Given the description of an element on the screen output the (x, y) to click on. 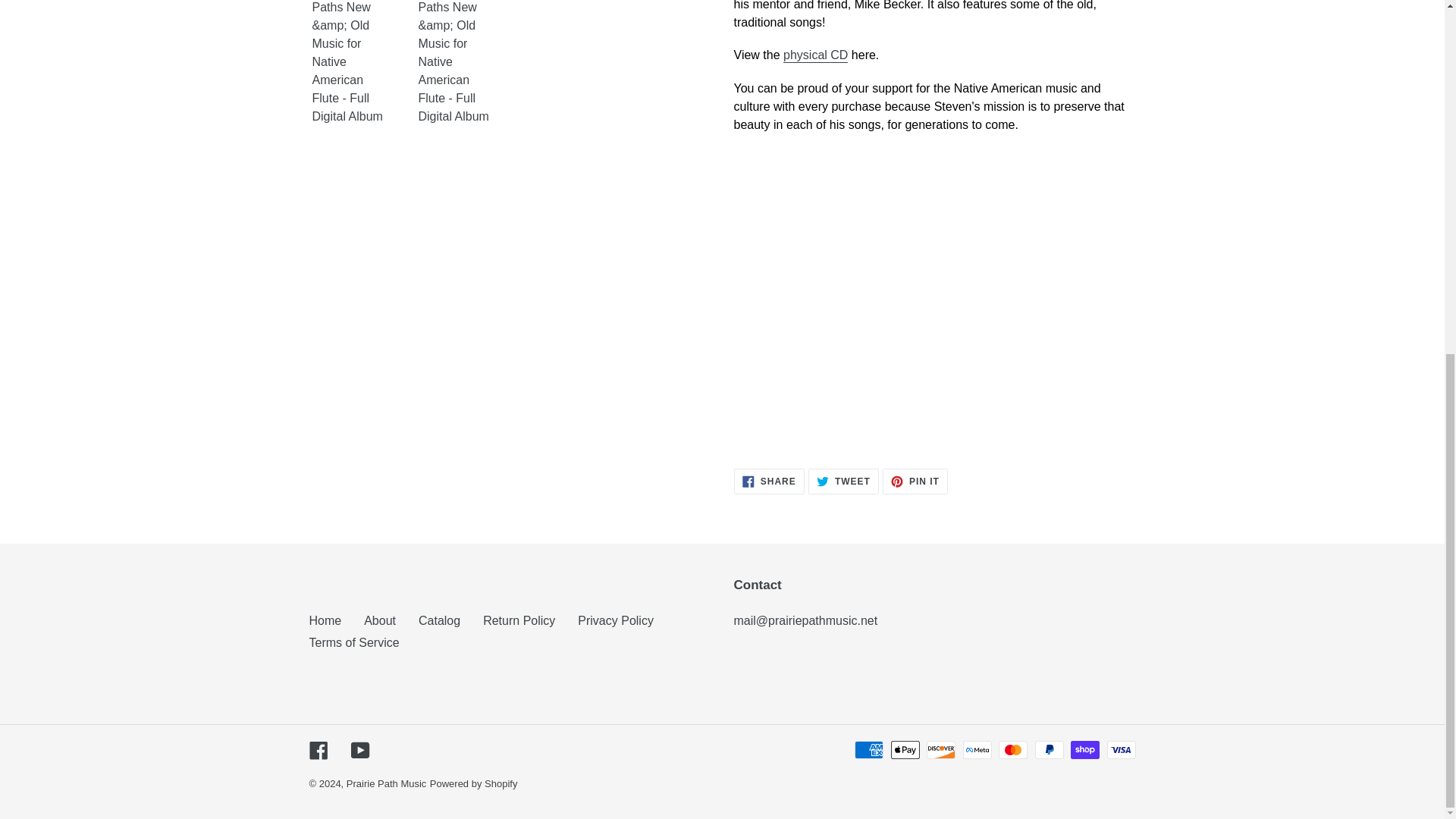
Catalog (439, 620)
Return Policy (518, 620)
Prairie Path Music (769, 481)
Terms of Service (386, 783)
YouTube (353, 642)
Facebook (914, 481)
physical CD (843, 481)
Home (359, 749)
Powered by Shopify (318, 749)
Privacy Policy (815, 55)
About (325, 620)
